Given the description of an element on the screen output the (x, y) to click on. 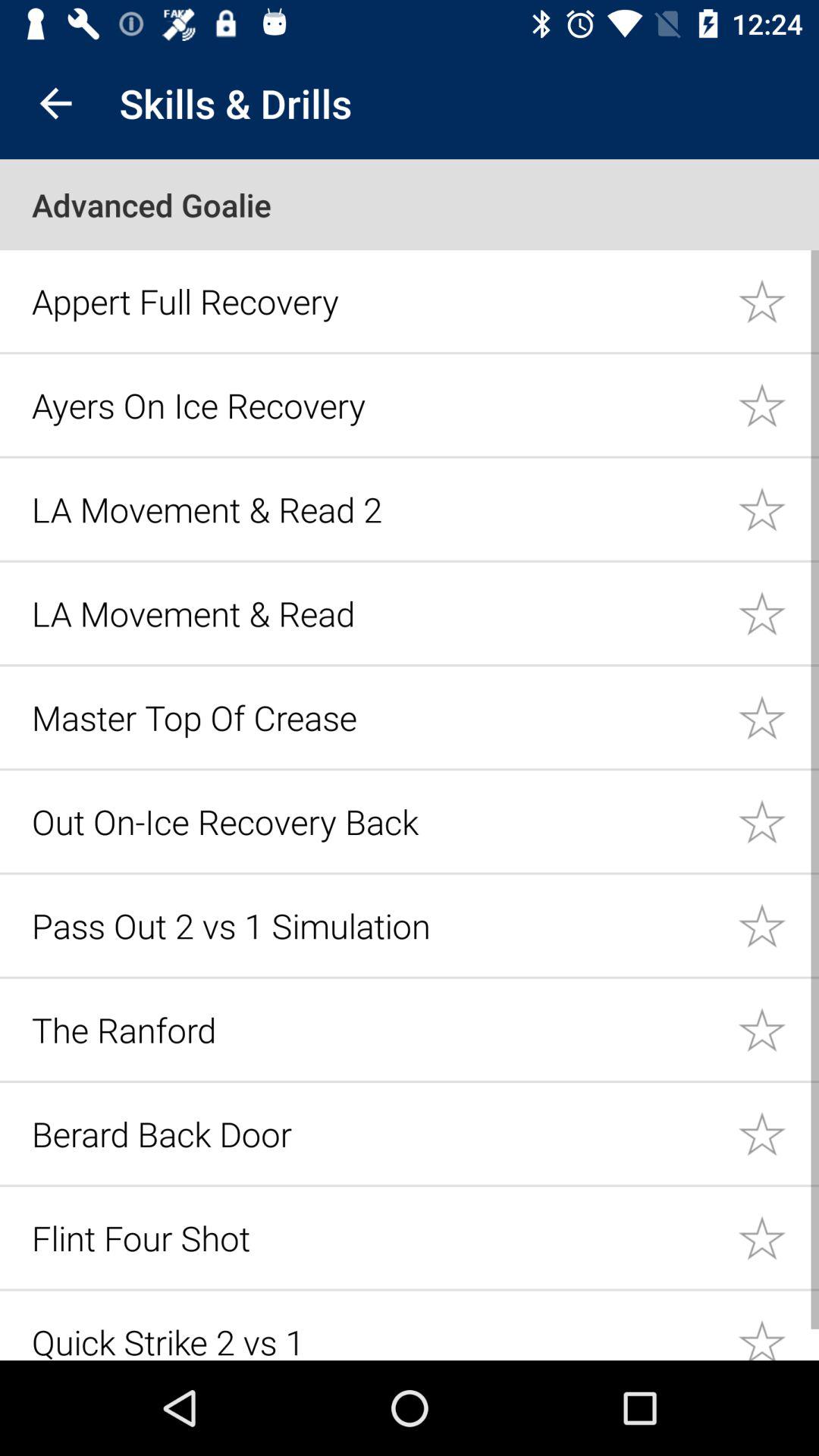
launch the icon below the appert full recovery (376, 405)
